Given the description of an element on the screen output the (x, y) to click on. 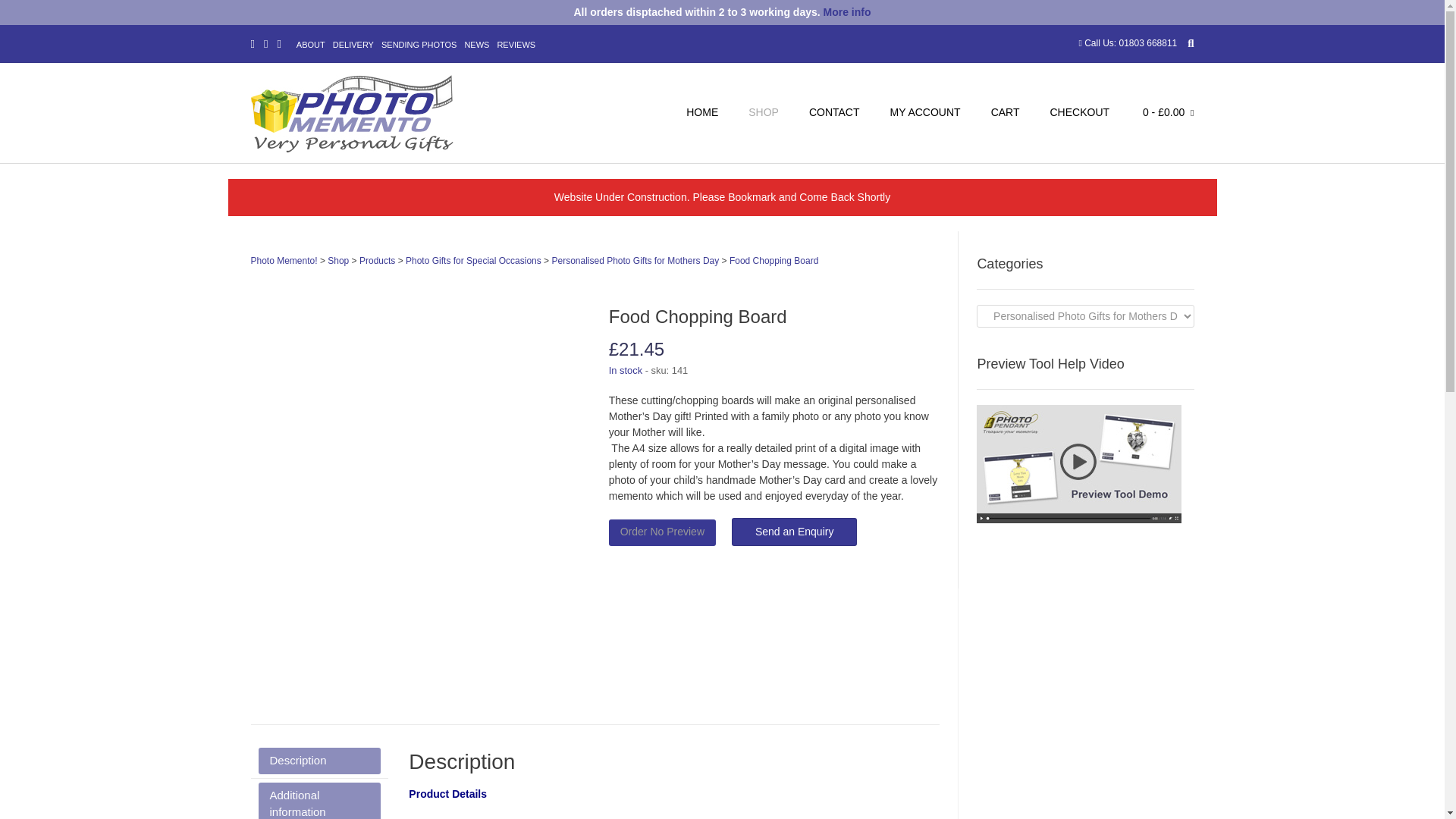
ABOUT (311, 45)
Order No Preview (662, 532)
REVIEWS (515, 45)
MY ACCOUNT (925, 113)
Photo Memento! (283, 260)
More info (847, 11)
Photo Gifts for Special Occasions (473, 260)
Description (318, 760)
DELIVERY (353, 45)
NEWS (476, 45)
Additional information (318, 800)
Go to Food Chopping Board. (773, 260)
Personalised Photo Gifts for Mothers Day (635, 260)
CHECKOUT (1078, 113)
